Given the description of an element on the screen output the (x, y) to click on. 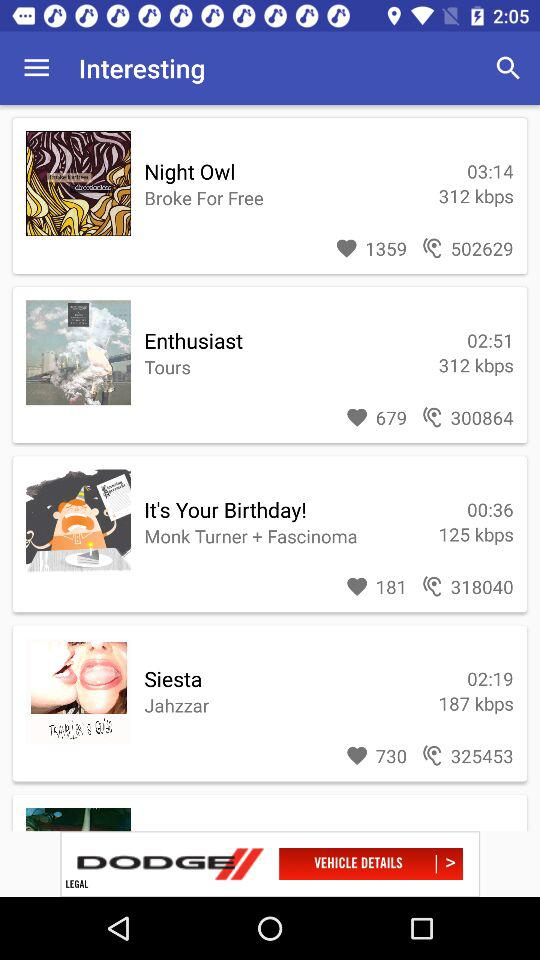
share the article option (270, 864)
